Given the description of an element on the screen output the (x, y) to click on. 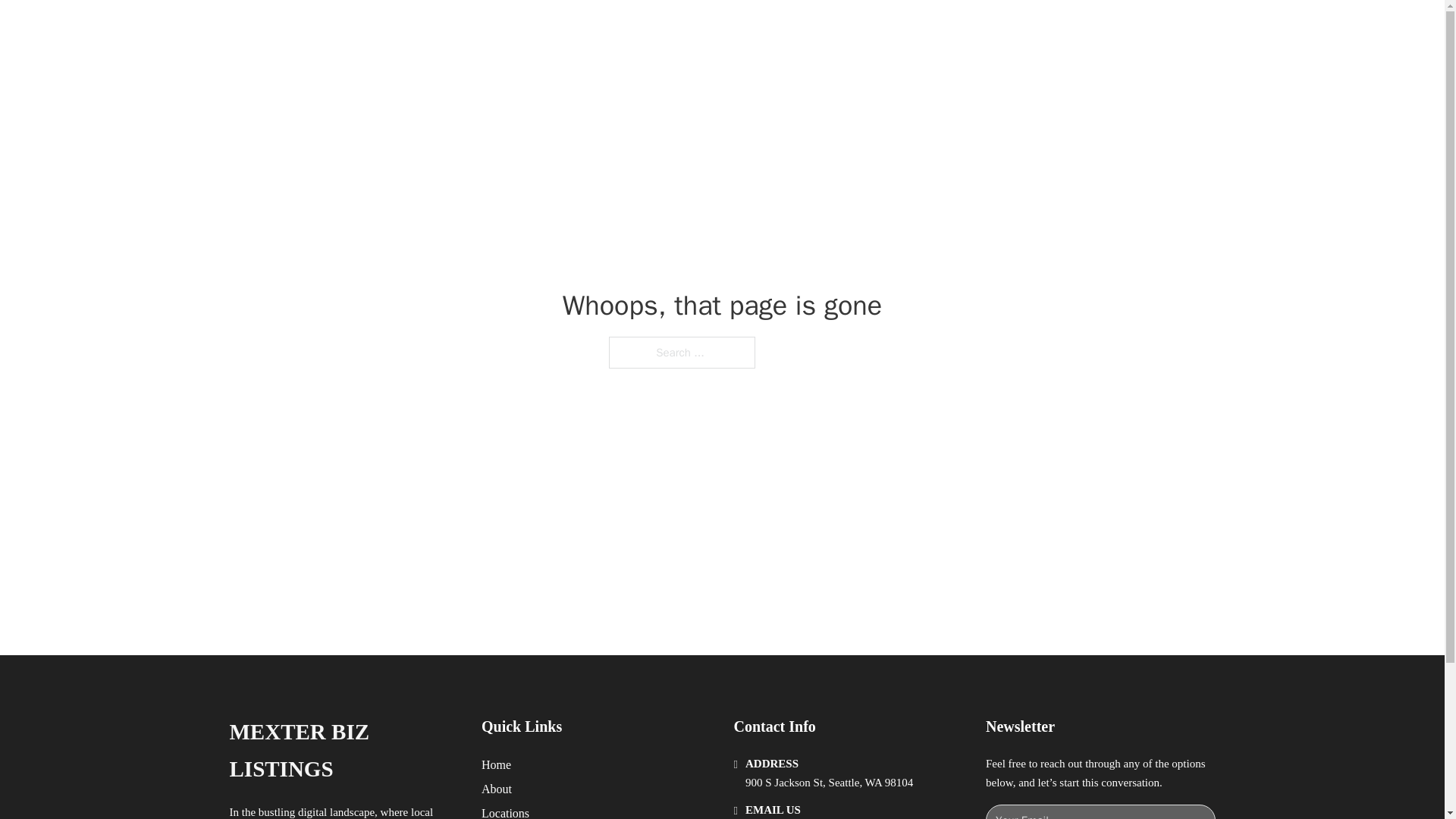
LOCATIONS (990, 29)
About (496, 788)
Home (496, 764)
Locations (505, 811)
MEXTER BIZ LISTINGS (343, 750)
HOME (919, 29)
MEXTER BIZ LISTINGS (419, 28)
